Given the description of an element on the screen output the (x, y) to click on. 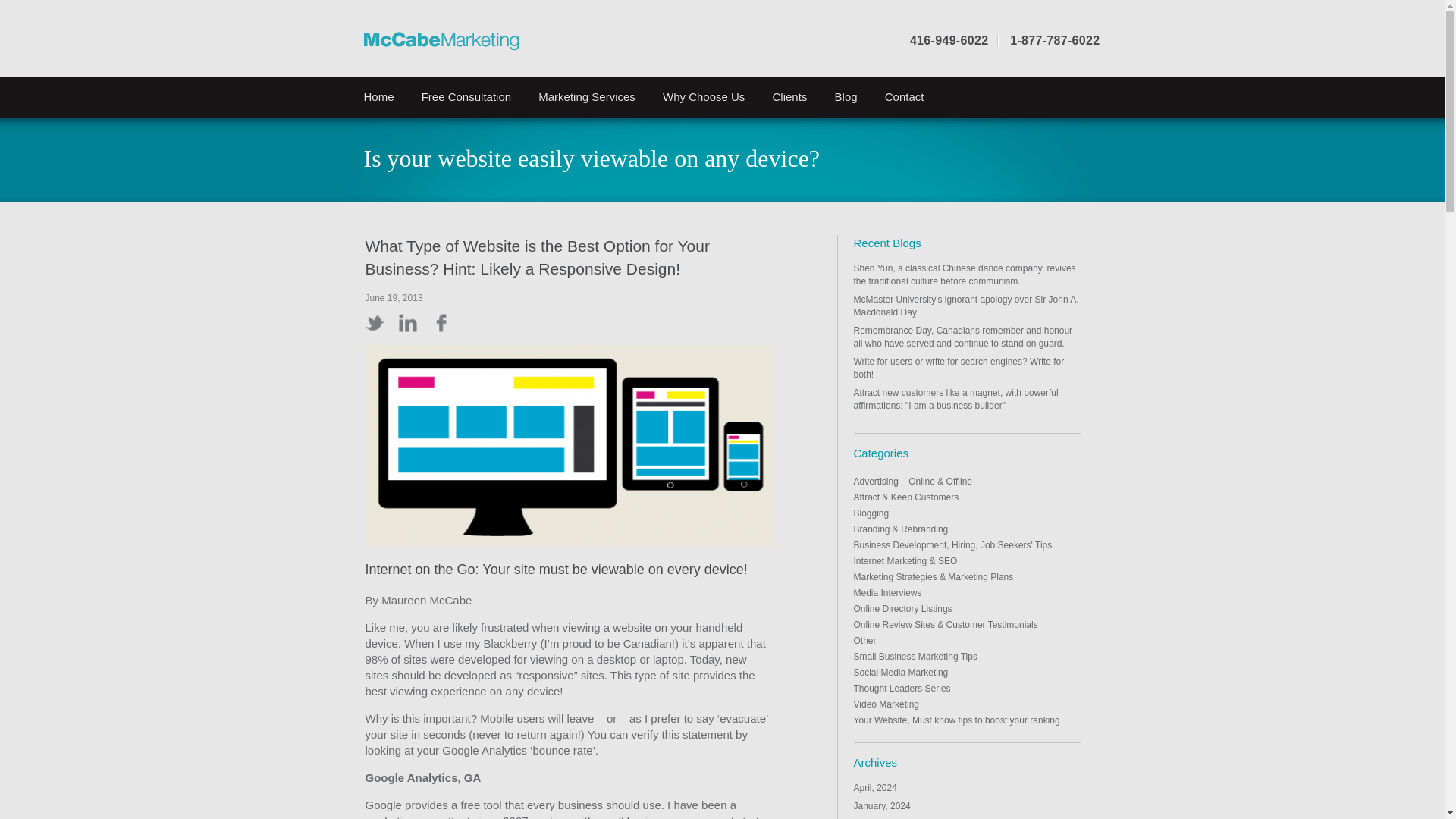
Why Choose Us (696, 96)
1-877-787-6022 (1054, 40)
Contact (898, 96)
Free Consultation (459, 96)
Blog (839, 96)
416-949-6022 (949, 40)
Marketing Services (579, 96)
Home (370, 96)
Clients (783, 96)
